Given the description of an element on the screen output the (x, y) to click on. 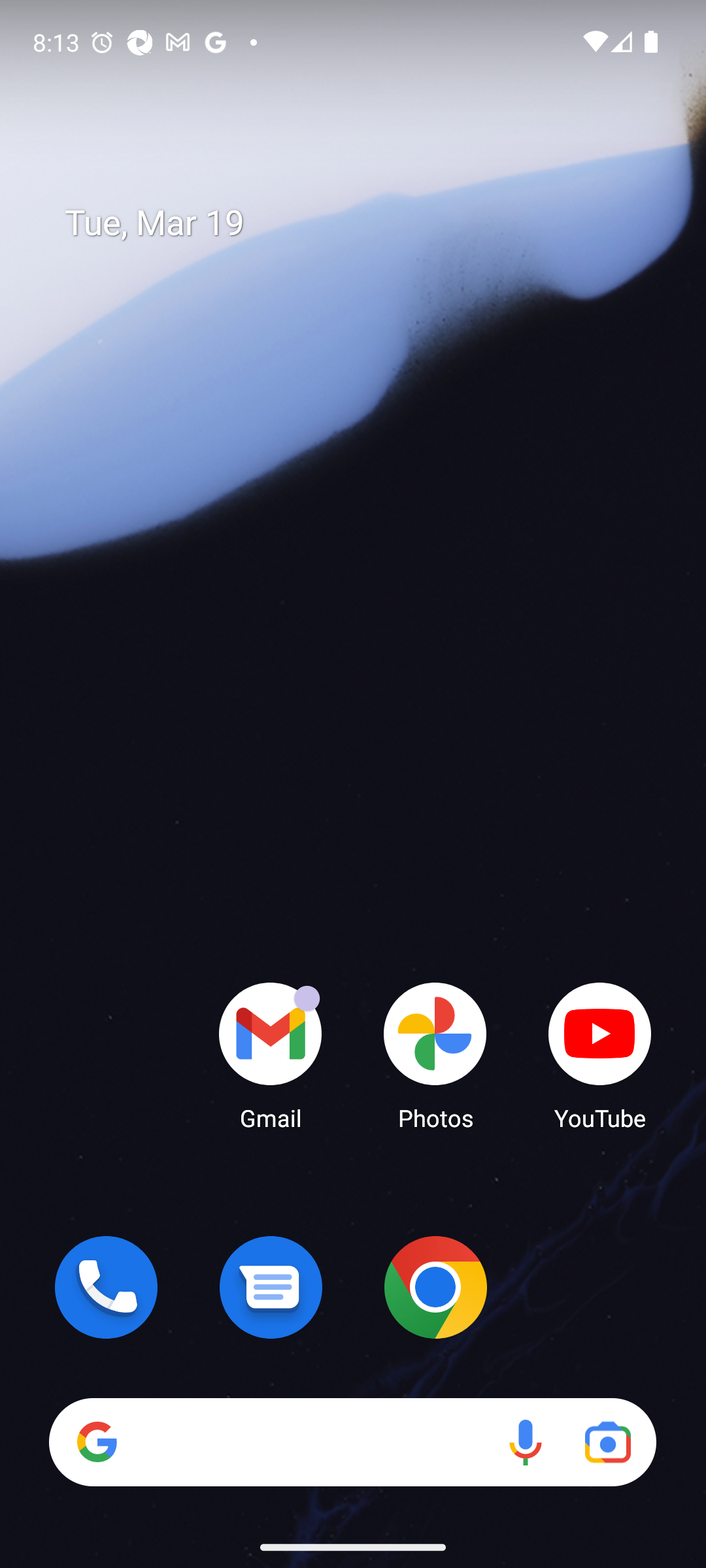
Tue, Mar 19 (366, 223)
Gmail Gmail has 18 notifications (270, 1054)
Photos (435, 1054)
YouTube (599, 1054)
Phone (106, 1287)
Messages (270, 1287)
Chrome (435, 1287)
Voice search (525, 1441)
Google Lens (607, 1441)
